Given the description of an element on the screen output the (x, y) to click on. 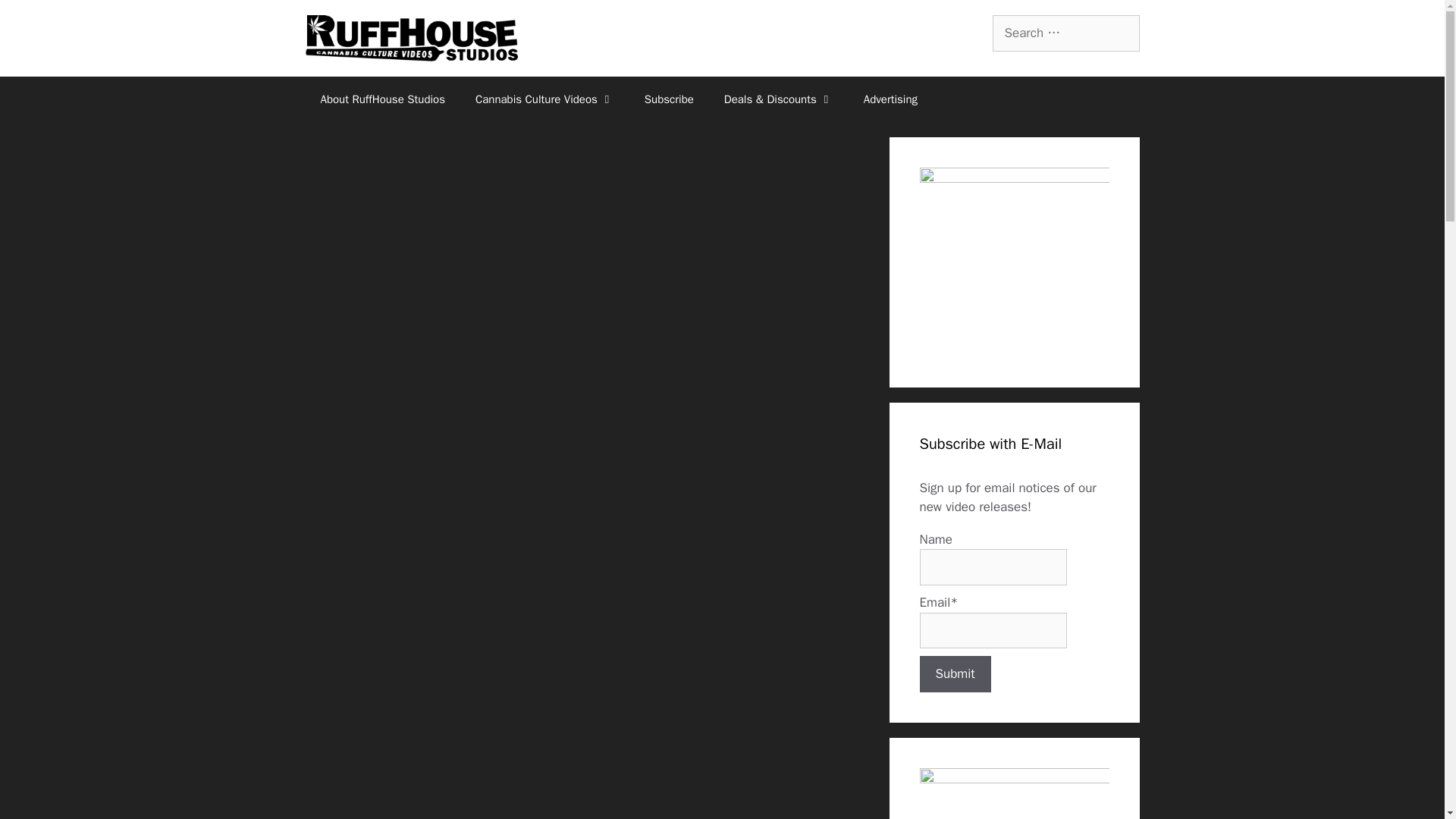
Submit (954, 674)
Submit (954, 674)
Search for: (1064, 33)
About RuffHouse Studios (382, 99)
Advertising (890, 99)
Subscribe (668, 99)
Search (35, 18)
Cannabis Culture Videos (544, 99)
